Given the description of an element on the screen output the (x, y) to click on. 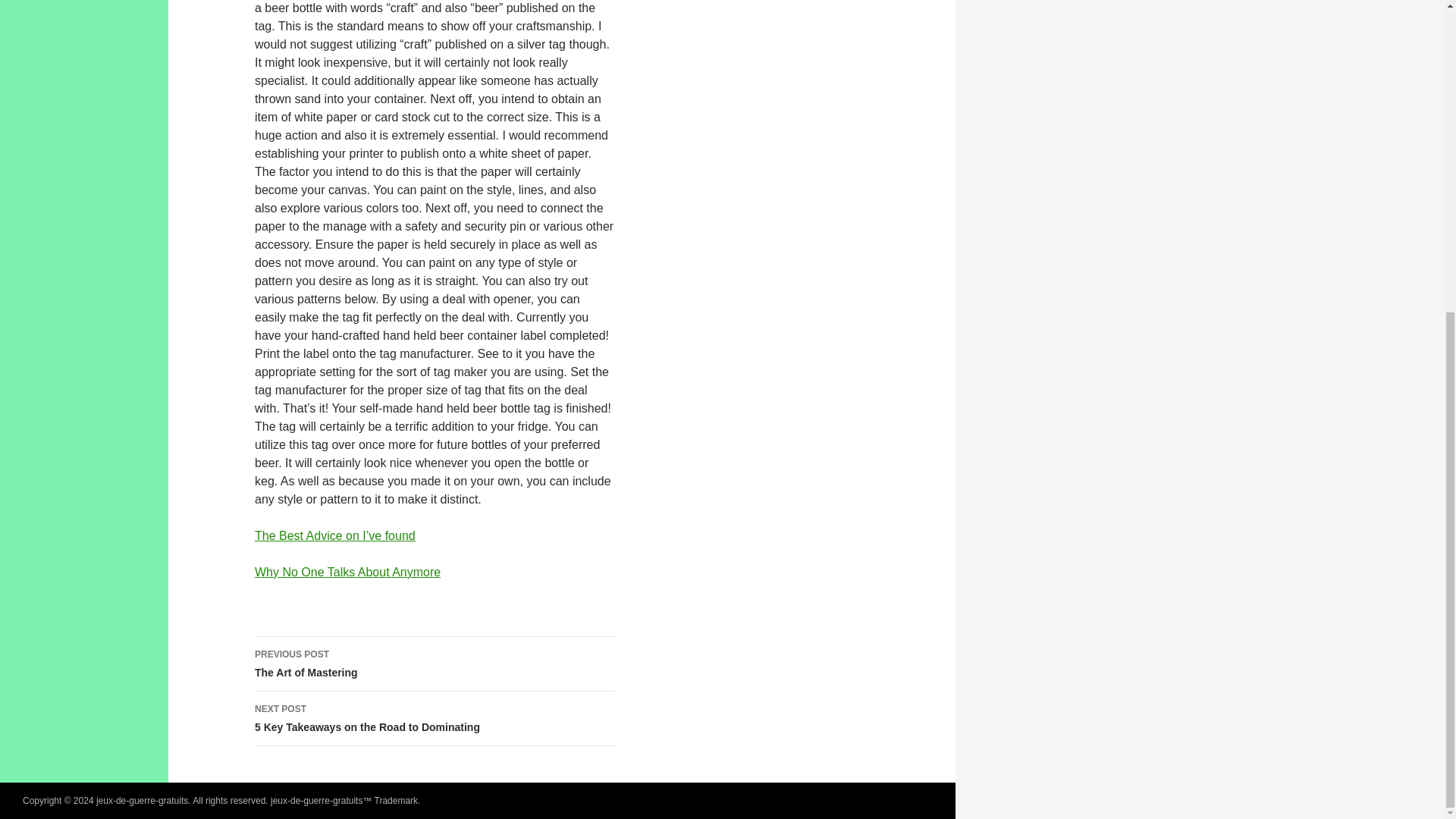
Why No One Talks About Anymore (434, 718)
